Given the description of an element on the screen output the (x, y) to click on. 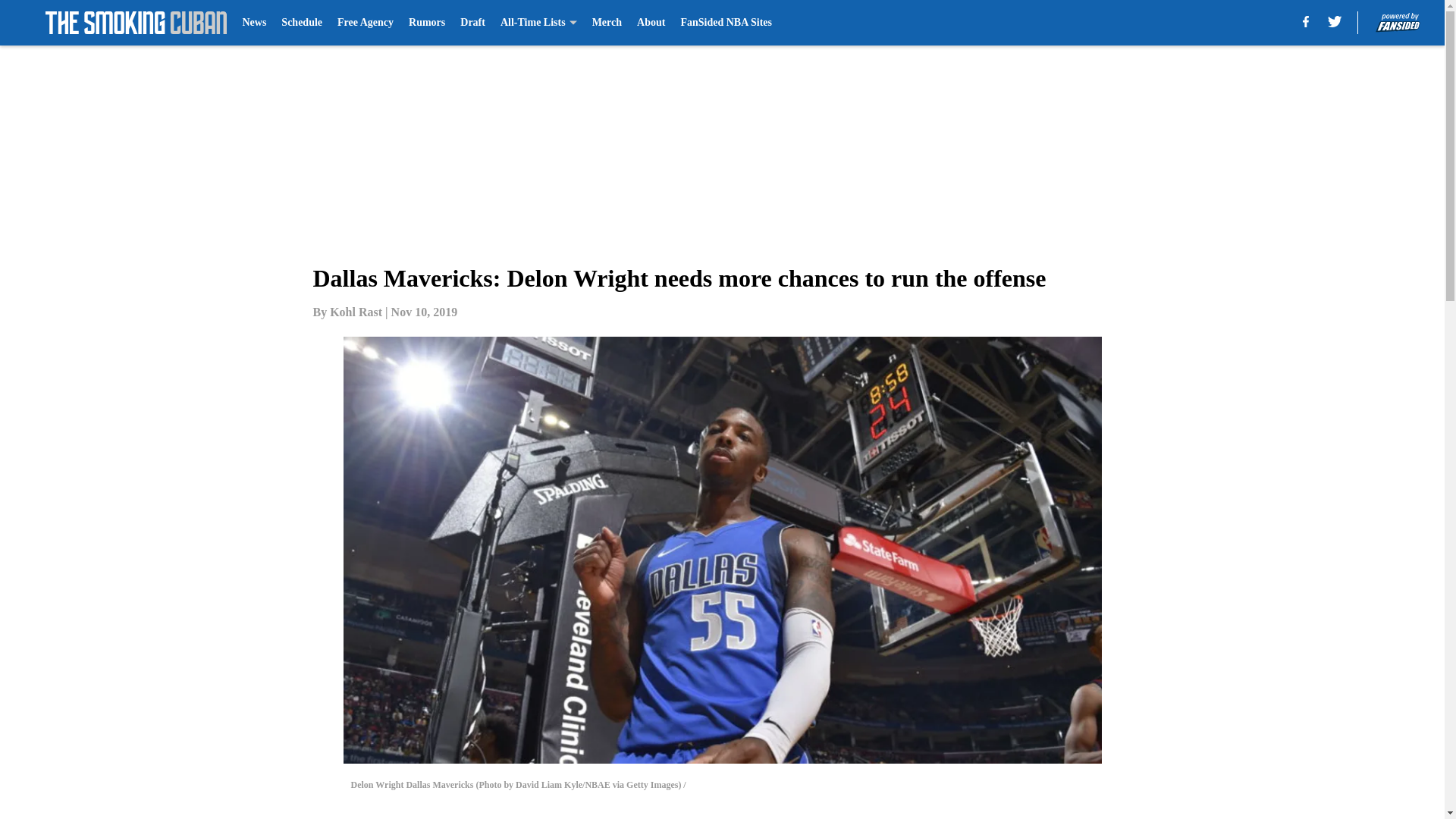
Rumors (427, 22)
Free Agency (365, 22)
Draft (472, 22)
Schedule (301, 22)
All-Time Lists (538, 22)
Merch (606, 22)
News (253, 22)
FanSided NBA Sites (725, 22)
About (651, 22)
